Given the description of an element on the screen output the (x, y) to click on. 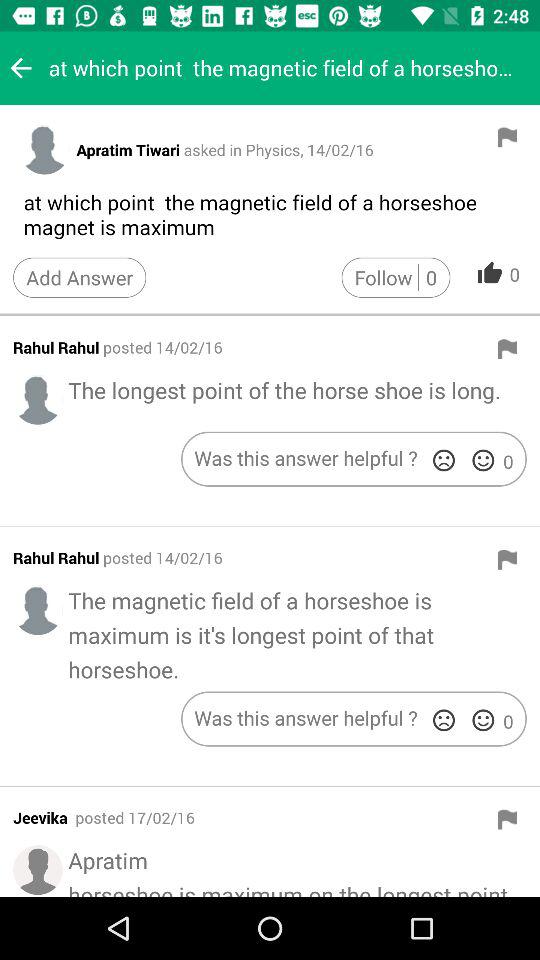
user profile (38, 610)
